Given the description of an element on the screen output the (x, y) to click on. 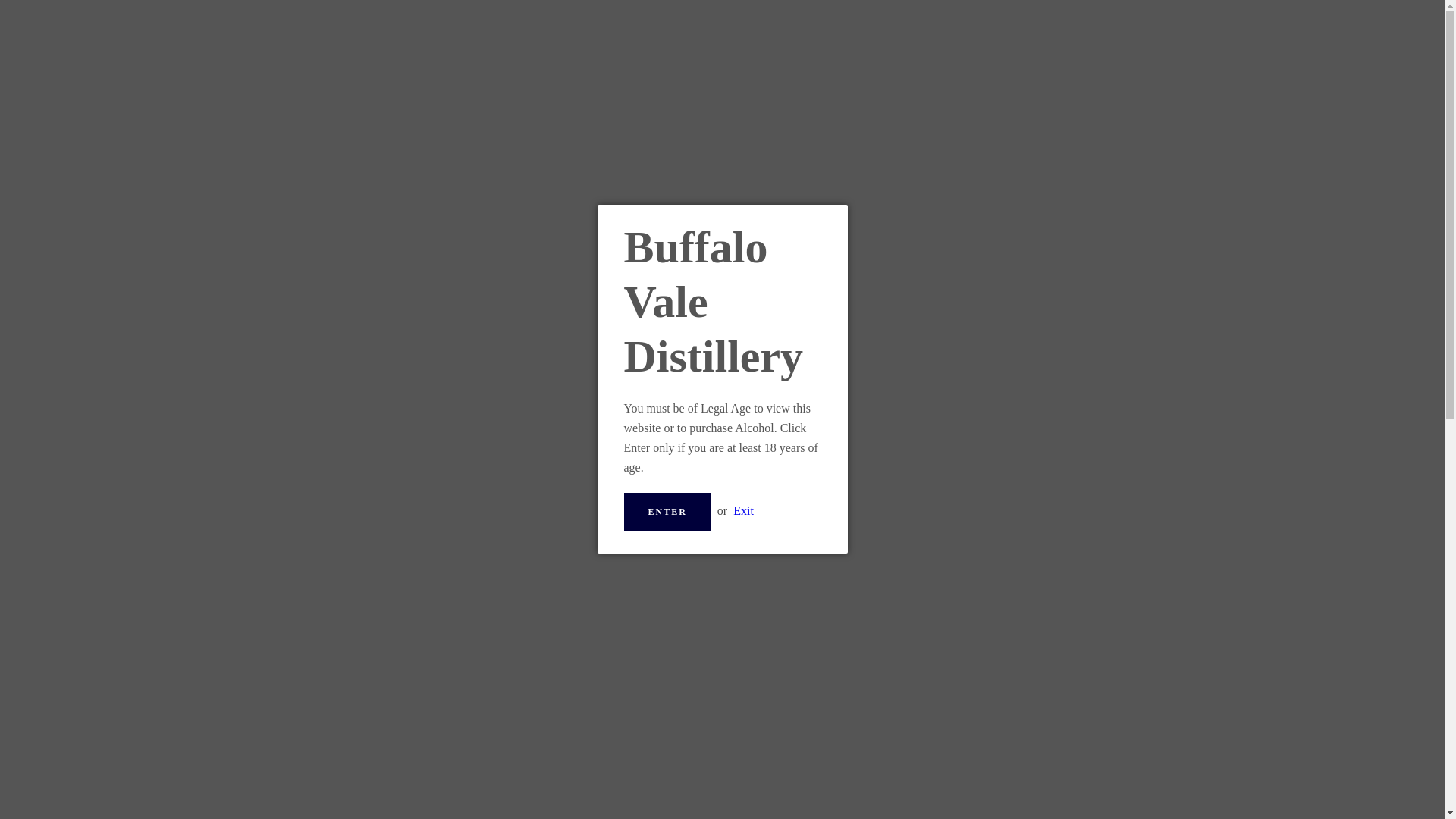
Buffalo Vale Distillery on Instagram (398, 768)
Ok (668, 682)
Facebook (372, 768)
EXPAND NAVIGATION (384, 26)
Instagram (398, 768)
VIEW CART (1059, 26)
Buffalo Vale Distillery on Facebook (372, 768)
Exit (743, 510)
Powered by Shopify (767, 769)
Ok (668, 682)
ENTER (666, 511)
Buffalo Vale Distillery (733, 759)
